Given the description of an element on the screen output the (x, y) to click on. 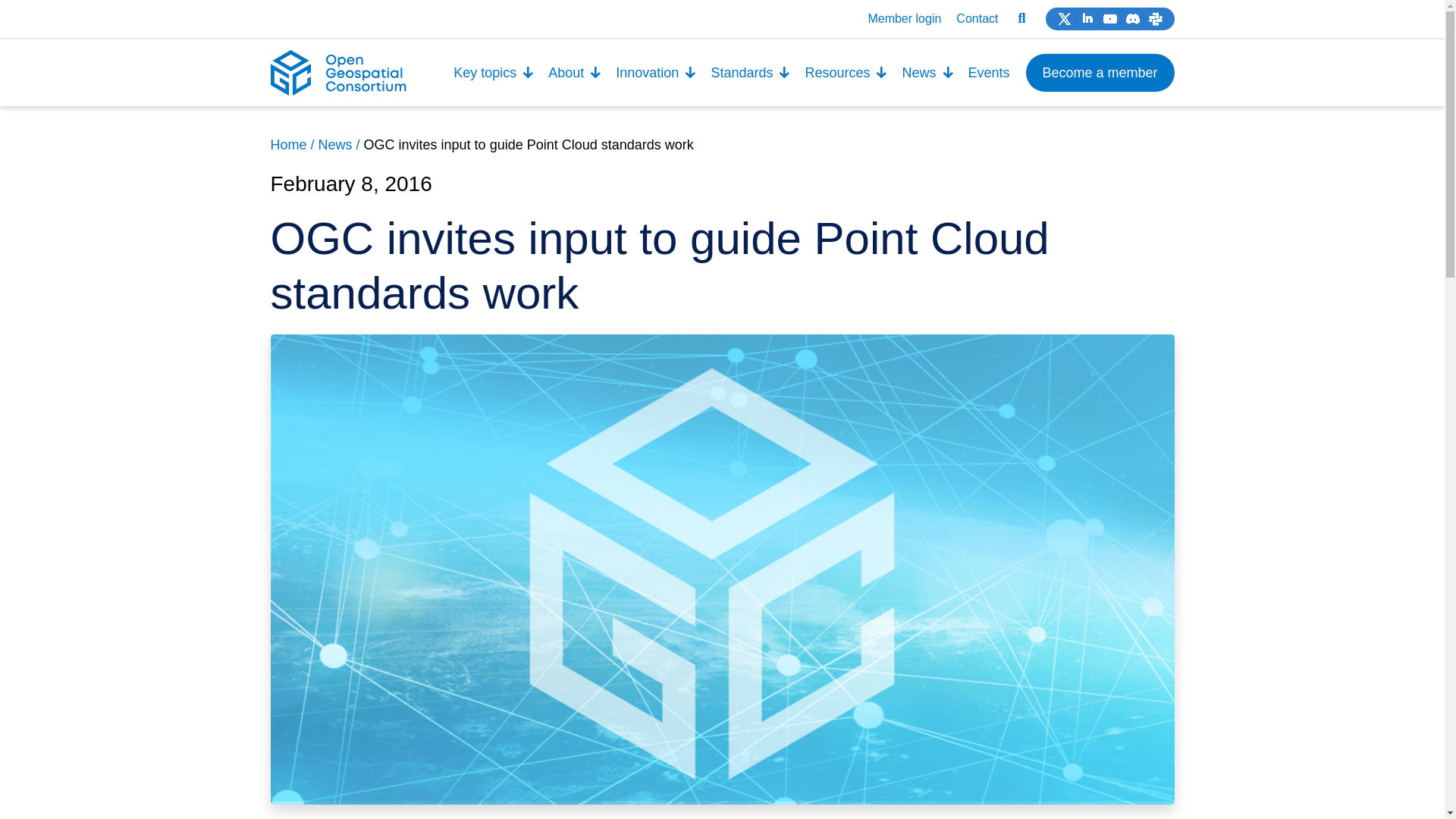
About (574, 72)
Contact (977, 18)
Standards (750, 72)
Key topics (493, 72)
Member login (904, 18)
Innovation (655, 72)
